Given the description of an element on the screen output the (x, y) to click on. 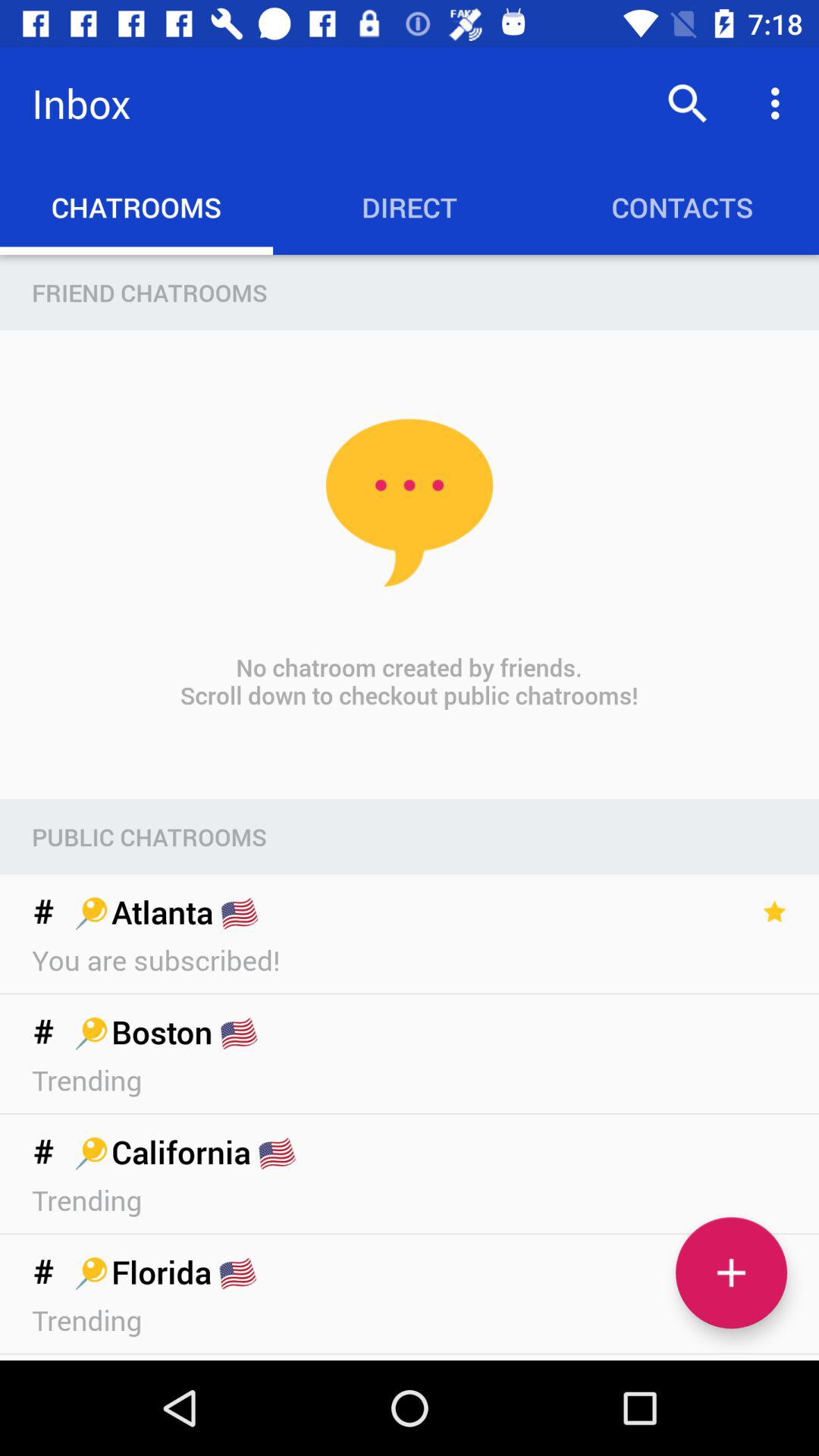
tap icon above the contacts item (779, 103)
